Given the description of an element on the screen output the (x, y) to click on. 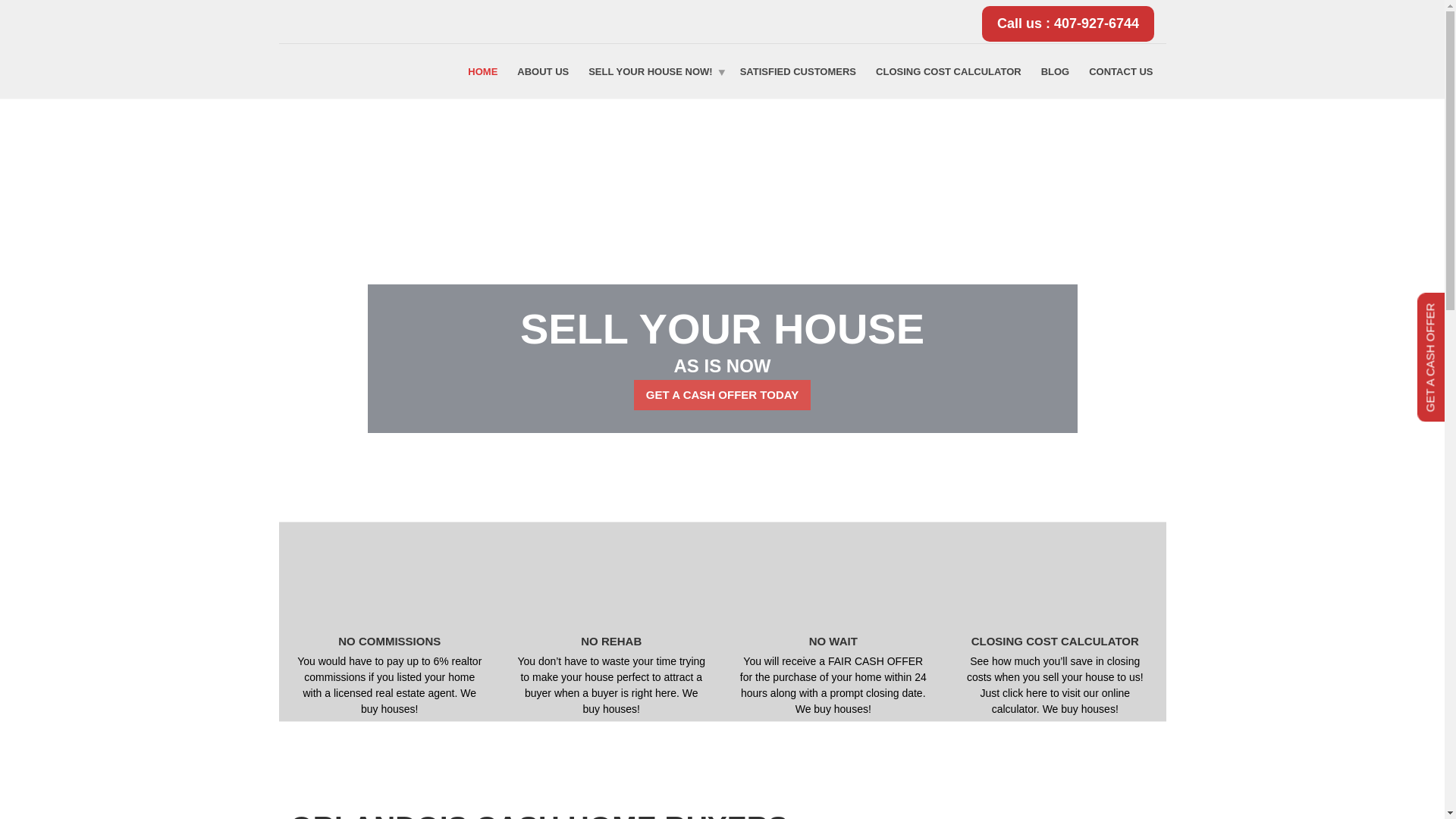
Sell Your House Now! (653, 71)
HOME (482, 71)
About Us (542, 71)
CONTACT US (1119, 71)
Contact Us (1119, 71)
Call us : 407-927-6744 (1067, 23)
CLOSING COST CALCULATOR (948, 71)
BLOG (1055, 71)
Blog (1055, 71)
GET A CASH OFFER TODAY (721, 372)
